Given the description of an element on the screen output the (x, y) to click on. 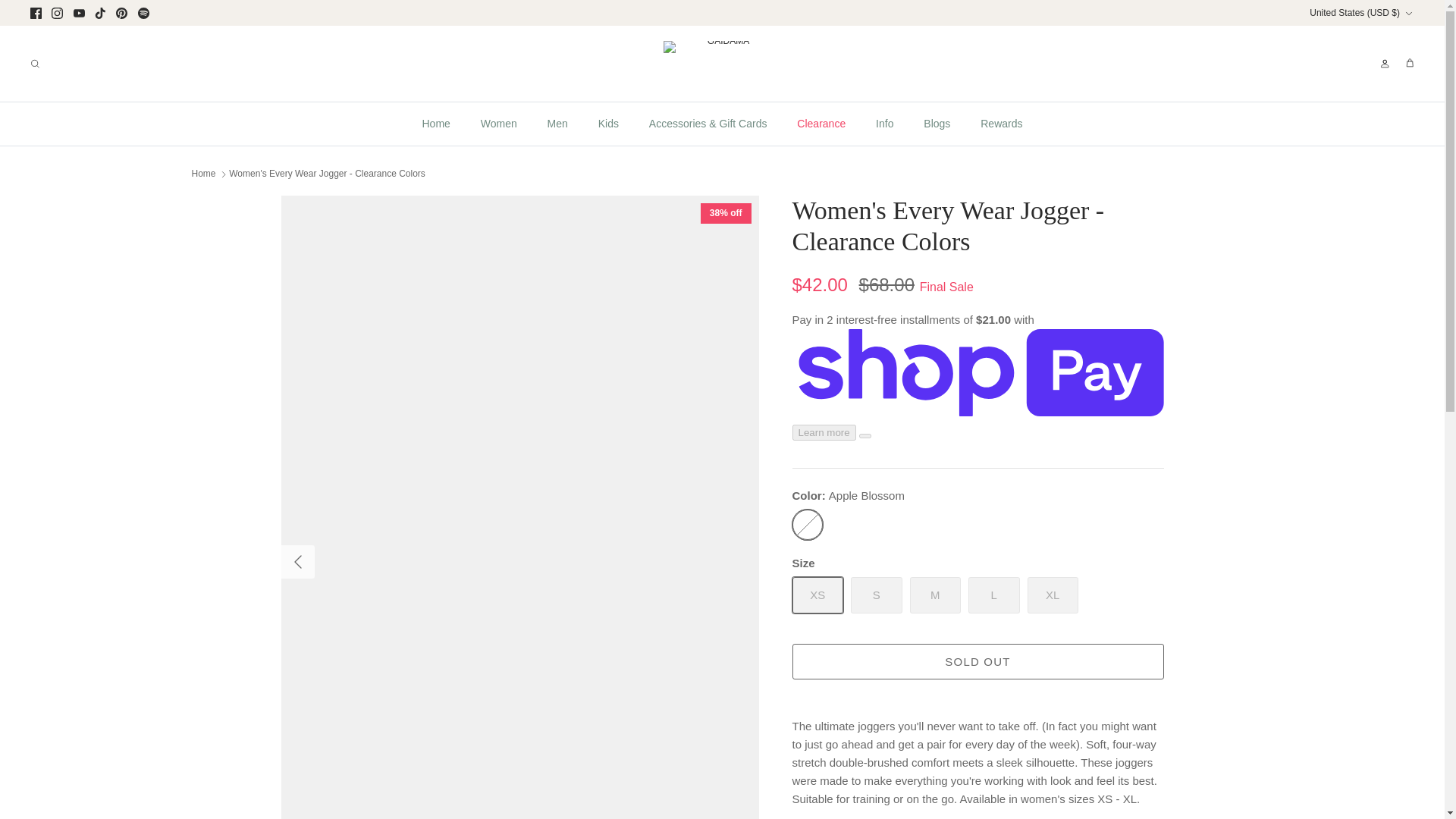
Facebook (36, 12)
Pinterest (122, 12)
Instagram (56, 12)
GAIDAMA (721, 63)
Pinterest (122, 12)
Youtube (79, 12)
Facebook (36, 12)
Down (1408, 13)
LEFT (296, 561)
Instagram (56, 12)
Youtube (79, 12)
